Given the description of an element on the screen output the (x, y) to click on. 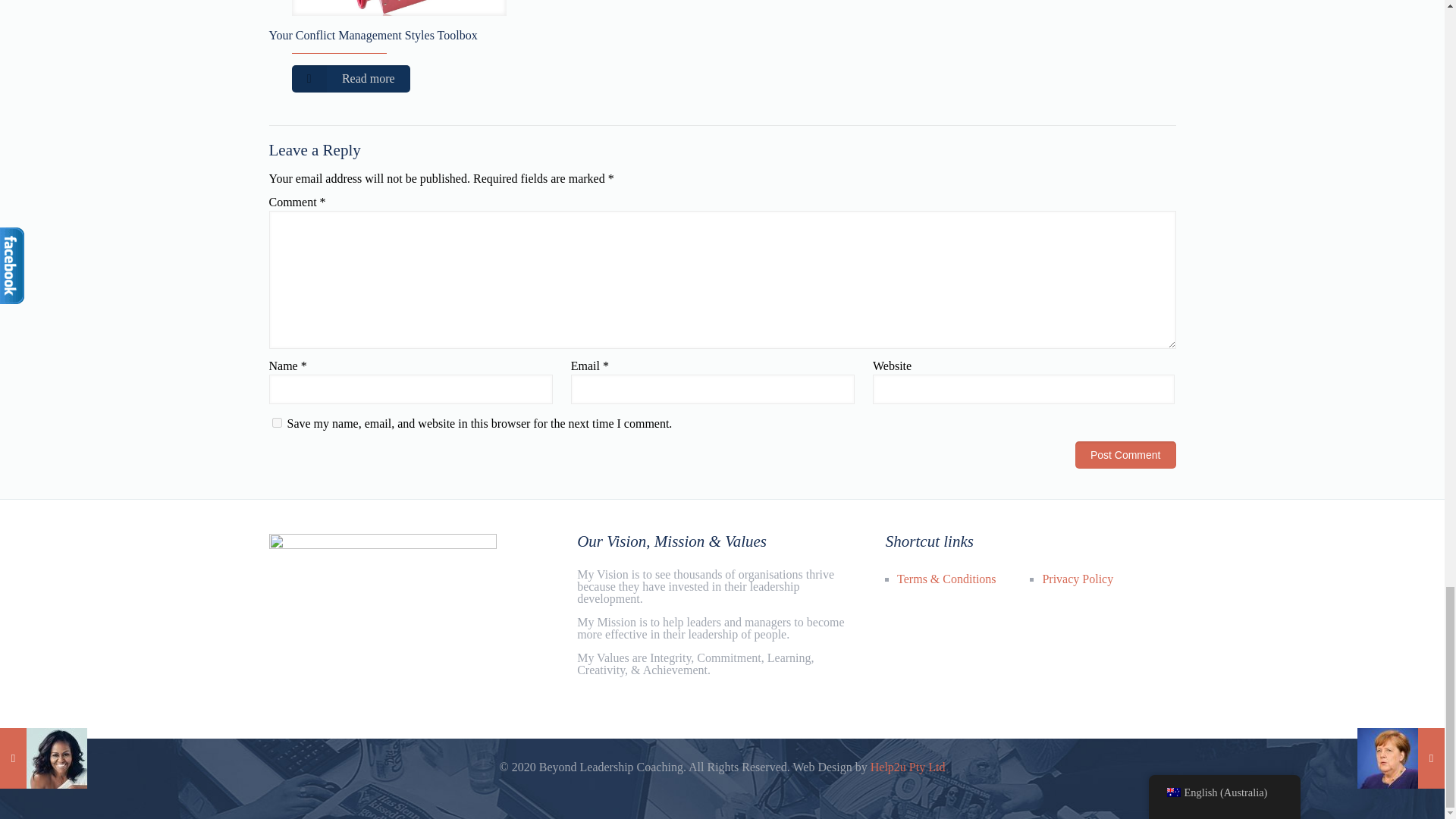
Read more (350, 78)
Post Comment (1125, 454)
yes (275, 422)
Post Comment (1125, 454)
Your Conflict Management Styles Toolbox (372, 34)
Help2u Pty Ltd (907, 766)
Privacy Policy (1077, 578)
